Given the description of an element on the screen output the (x, y) to click on. 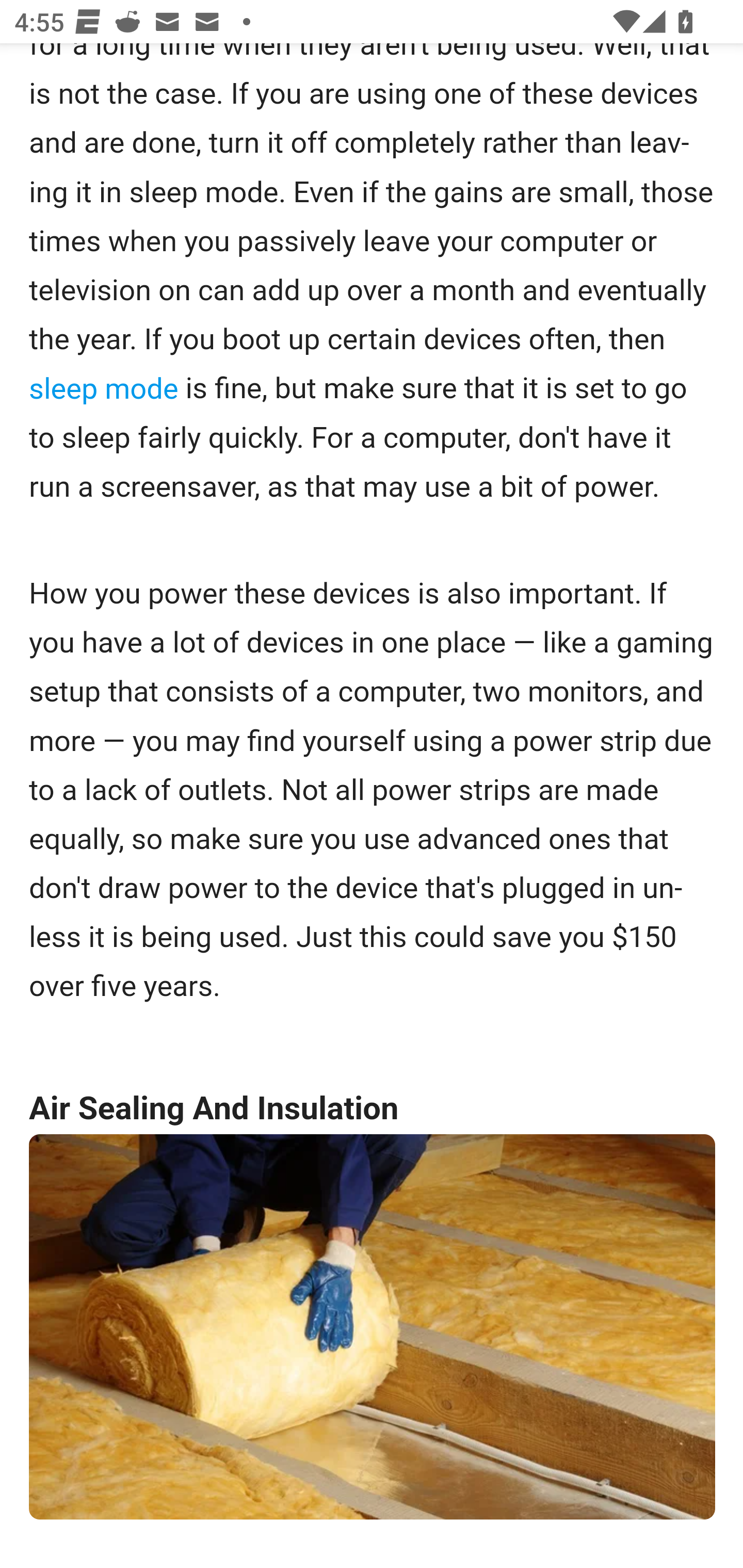
sleep mode (103, 388)
